Given the description of an element on the screen output the (x, y) to click on. 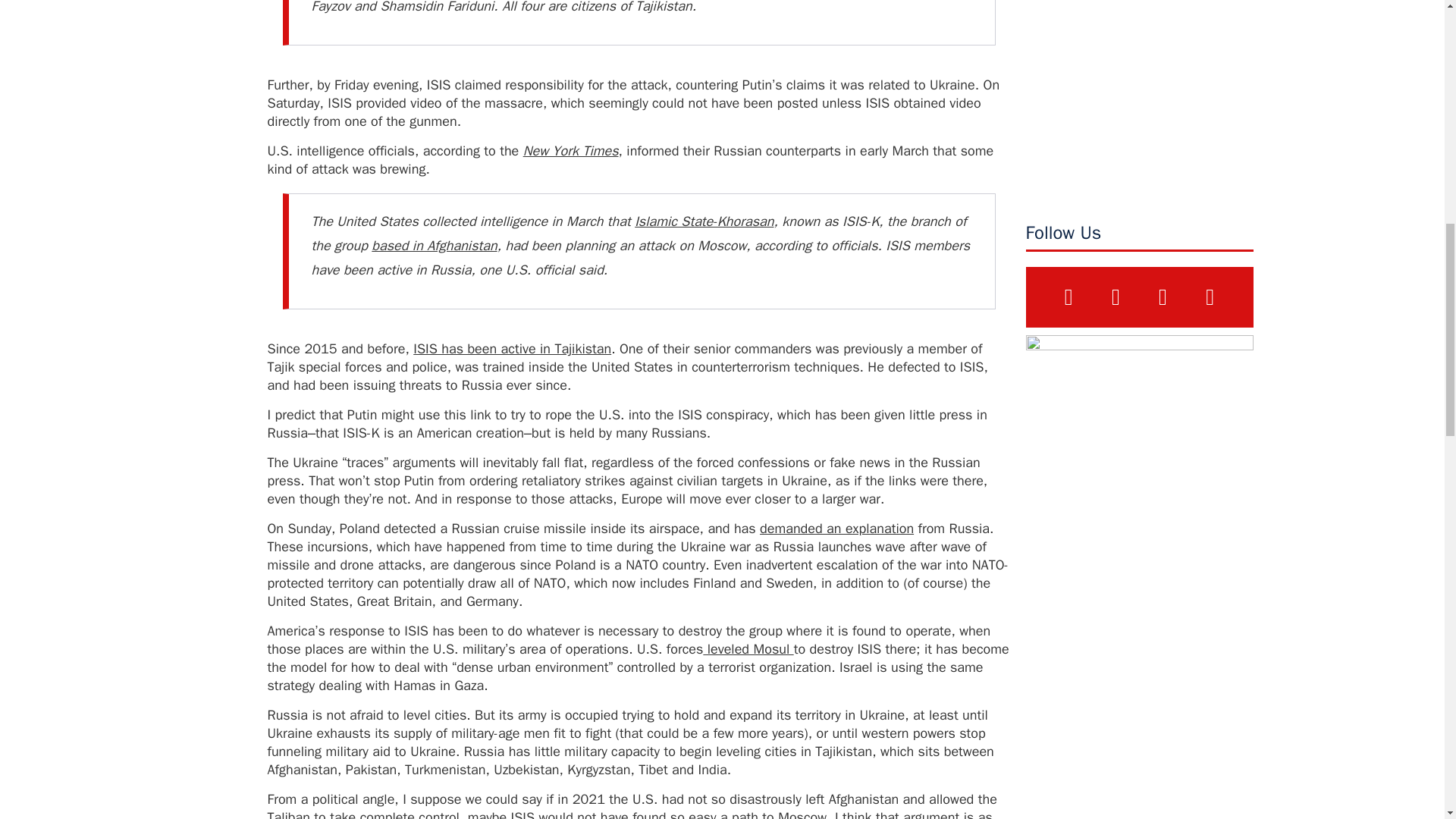
New York Times (570, 150)
Islamic State-Khorasan (703, 221)
based in Afghanistan (433, 245)
Bill O'Reilly is back! (1138, 98)
demanded an explanation (837, 528)
ISIS has been active in Tajikistan (512, 348)
leveled Mosul (748, 648)
